Given the description of an element on the screen output the (x, y) to click on. 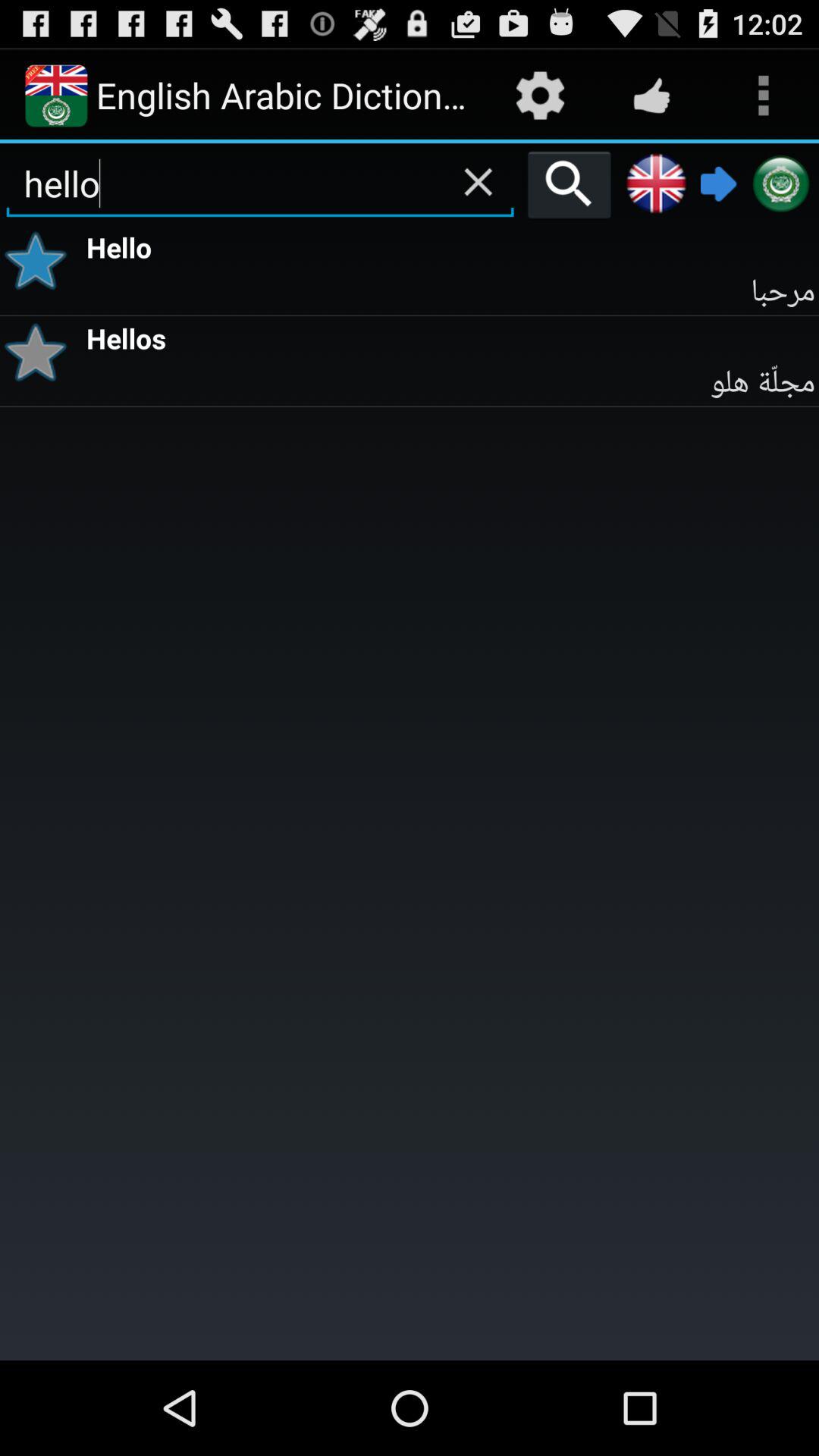
favorite message (41, 260)
